Given the description of an element on the screen output the (x, y) to click on. 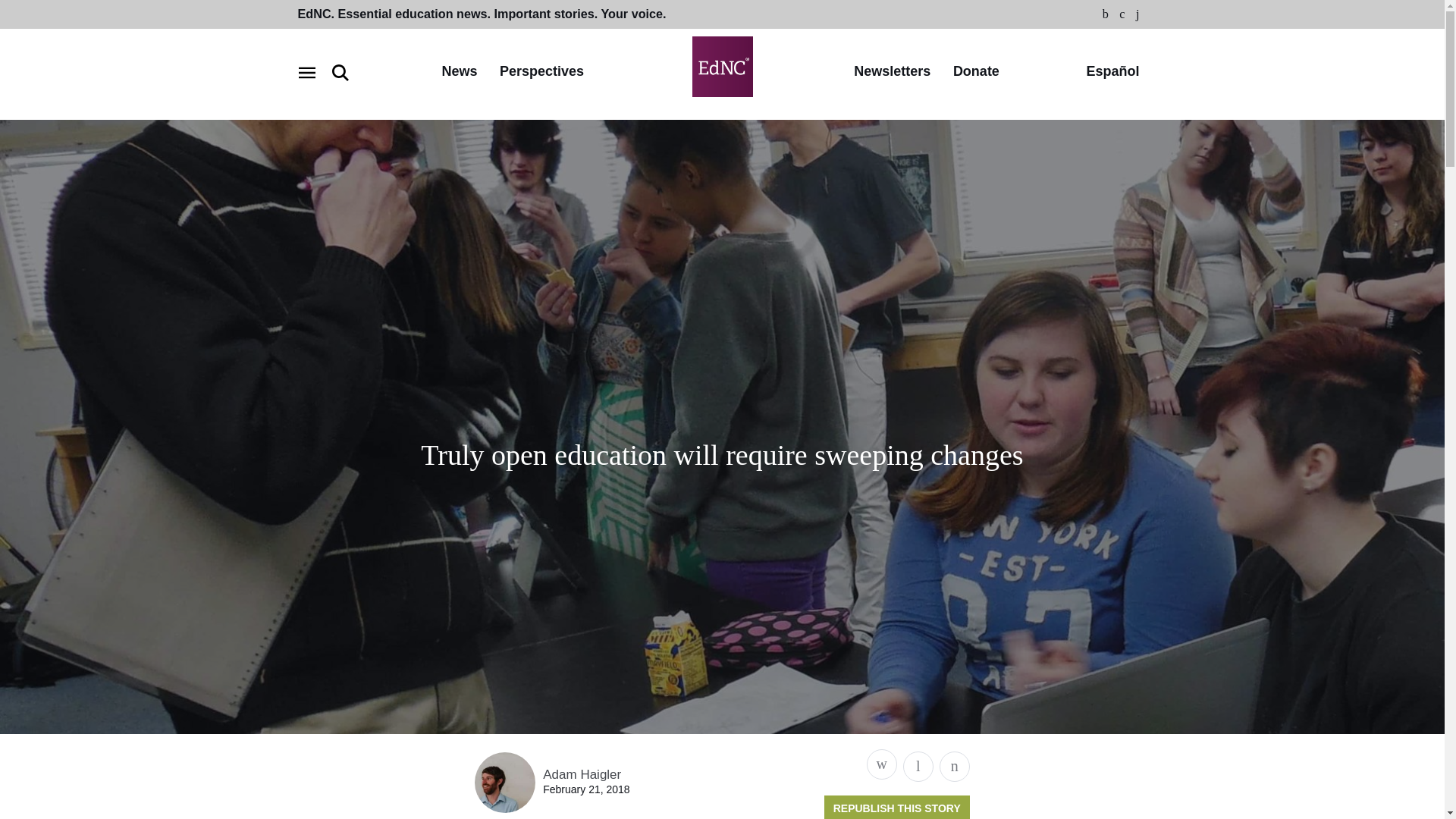
Share this page (881, 764)
Open navigation (306, 72)
Perspectives (541, 71)
Donate (975, 71)
Adam Haigler (582, 774)
News (459, 71)
Newsletters (891, 71)
